Given the description of an element on the screen output the (x, y) to click on. 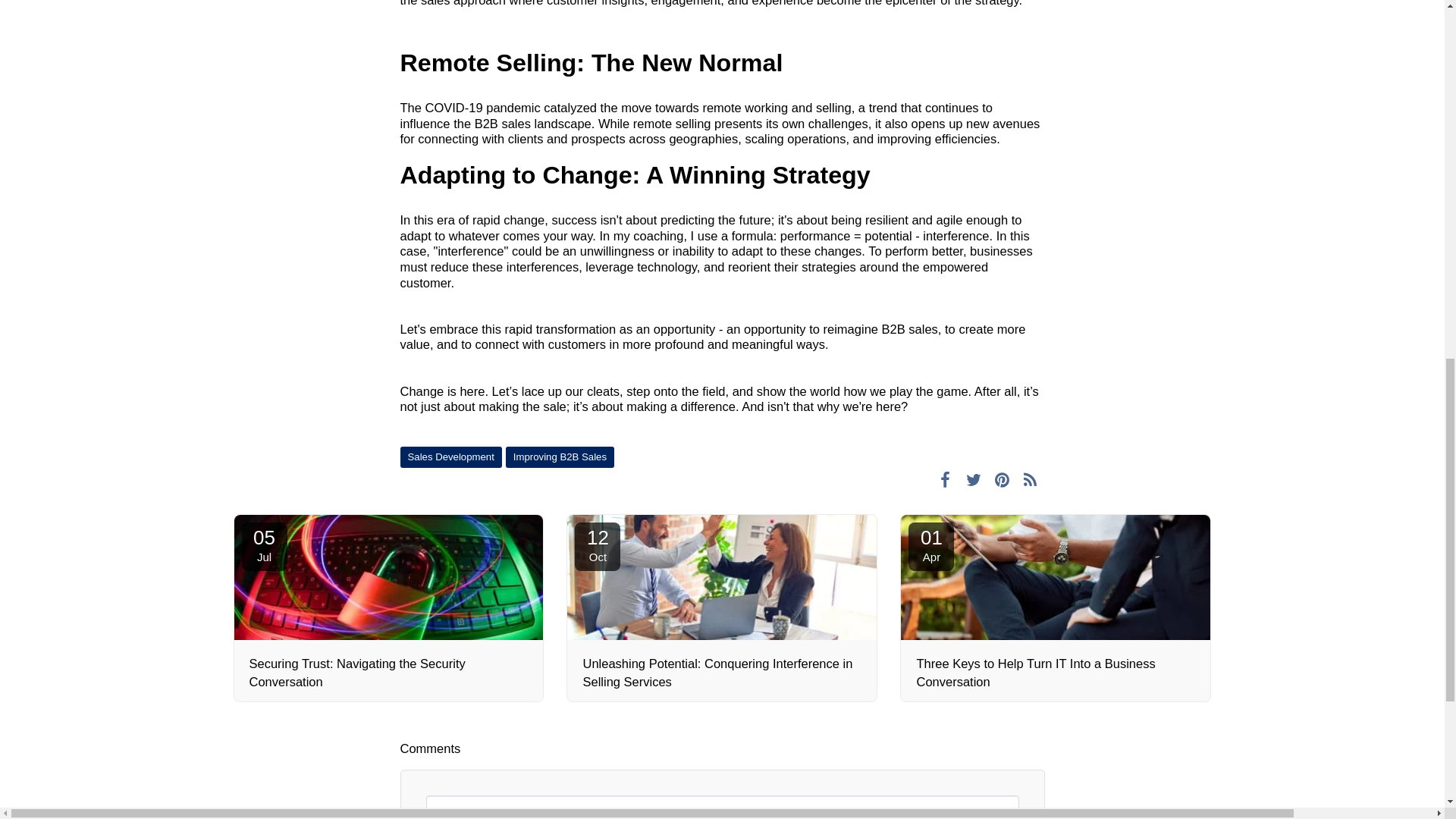
Improving B2B Sales (559, 457)
Pin it (1002, 478)
Tweet (973, 478)
Share on Facebook (945, 478)
RSS (1029, 478)
Sales Development (263, 546)
